Given the description of an element on the screen output the (x, y) to click on. 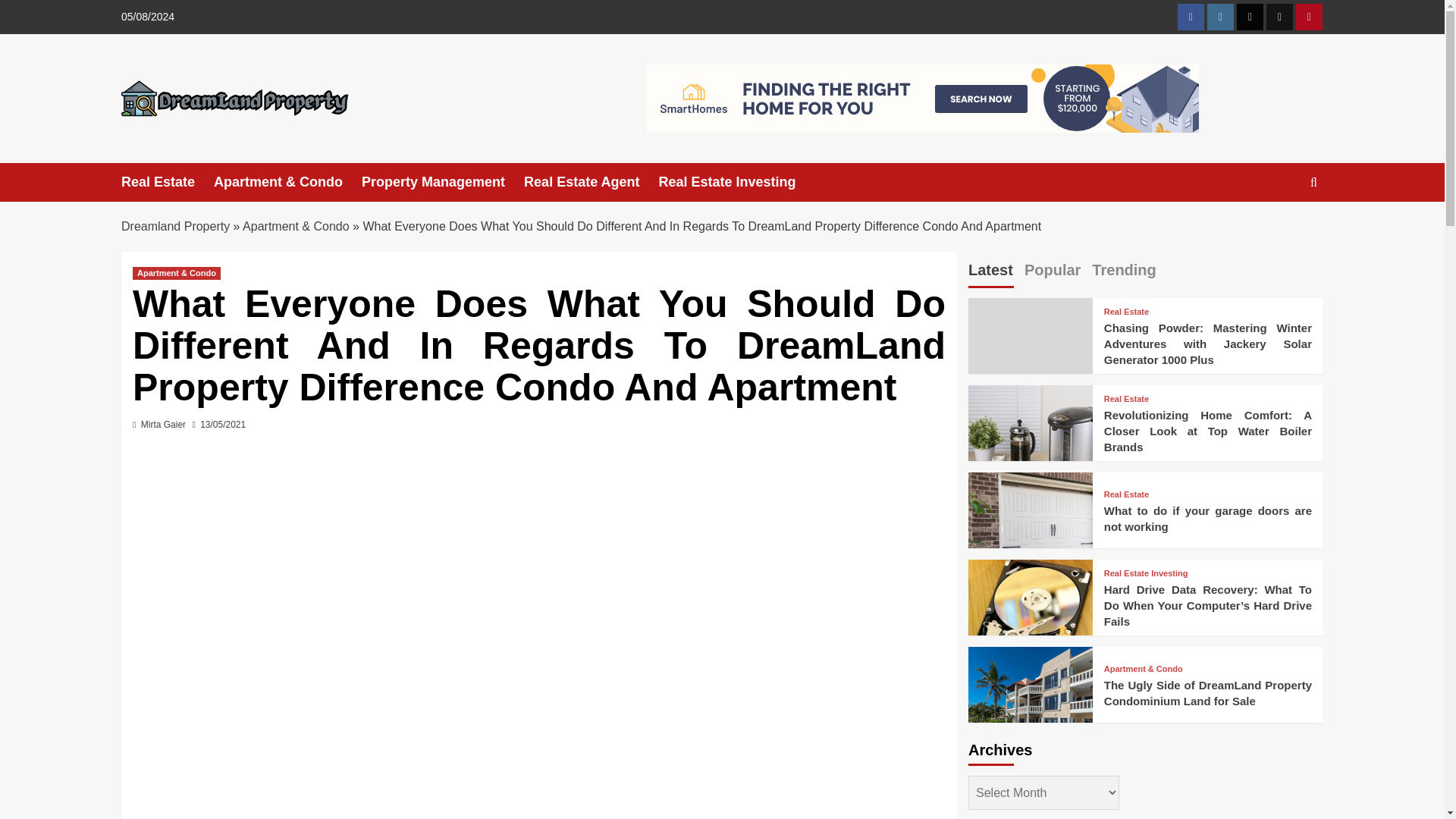
Instagram (1220, 17)
What to do if your garage doors are not working (1030, 534)
Real Estate Agent (591, 181)
Twitter (1249, 17)
Facebook (1190, 17)
Real Estate Investing (735, 181)
Search (1278, 229)
Mirta Gaier (163, 424)
